Given the description of an element on the screen output the (x, y) to click on. 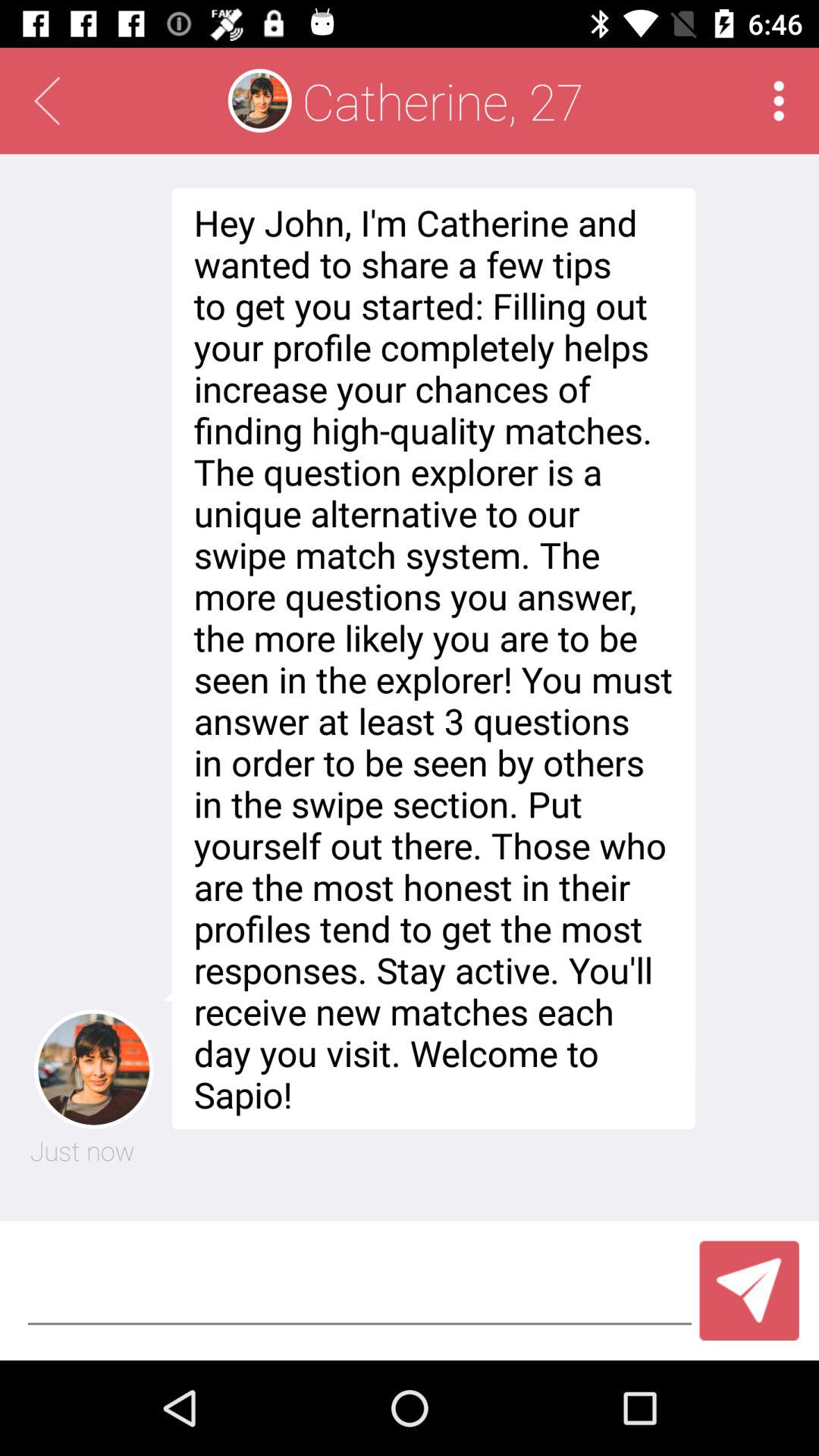
choose item next to the catherine, 27 (778, 100)
